Given the description of an element on the screen output the (x, y) to click on. 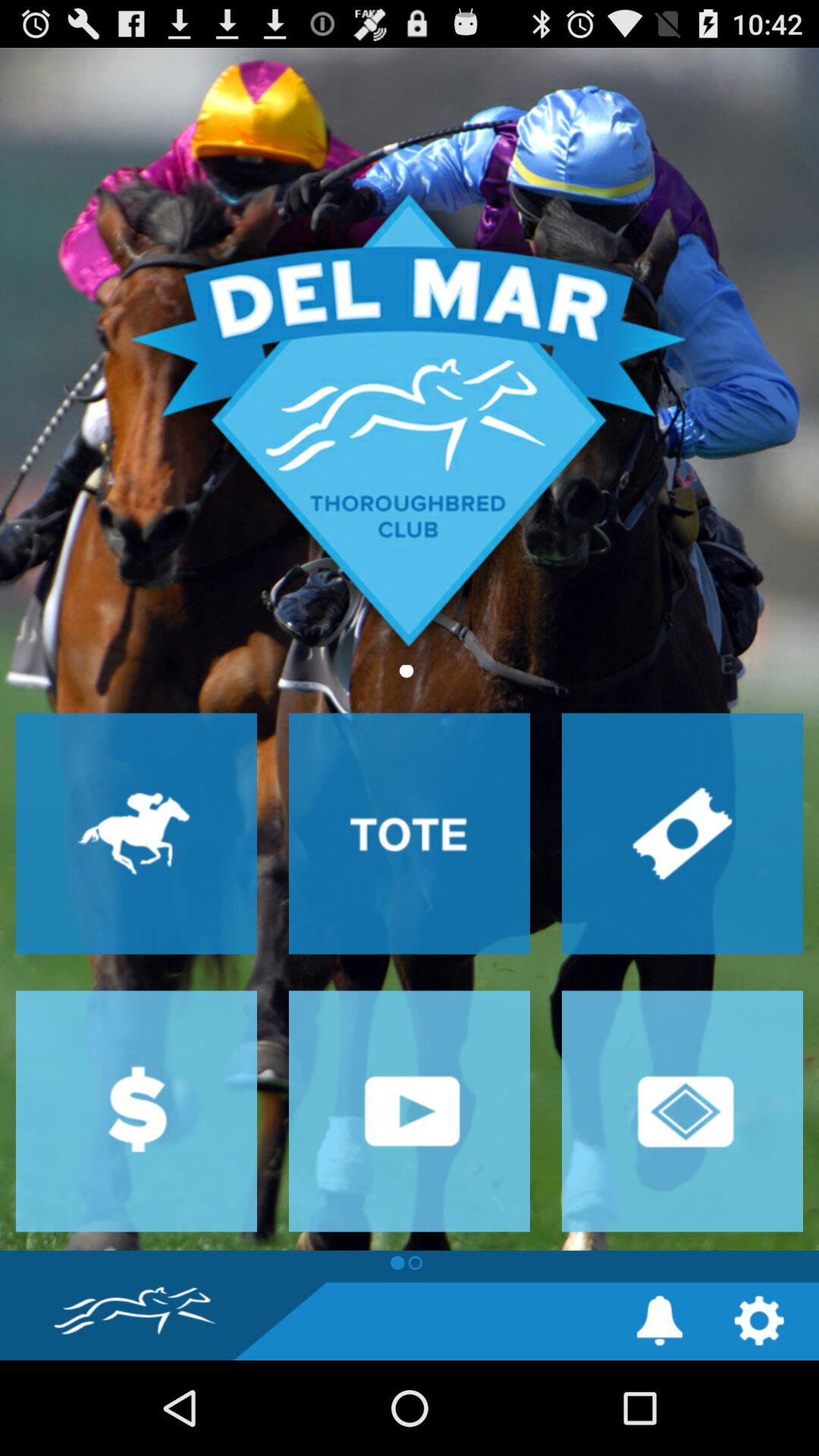
go to video (409, 1111)
